Given the description of an element on the screen output the (x, y) to click on. 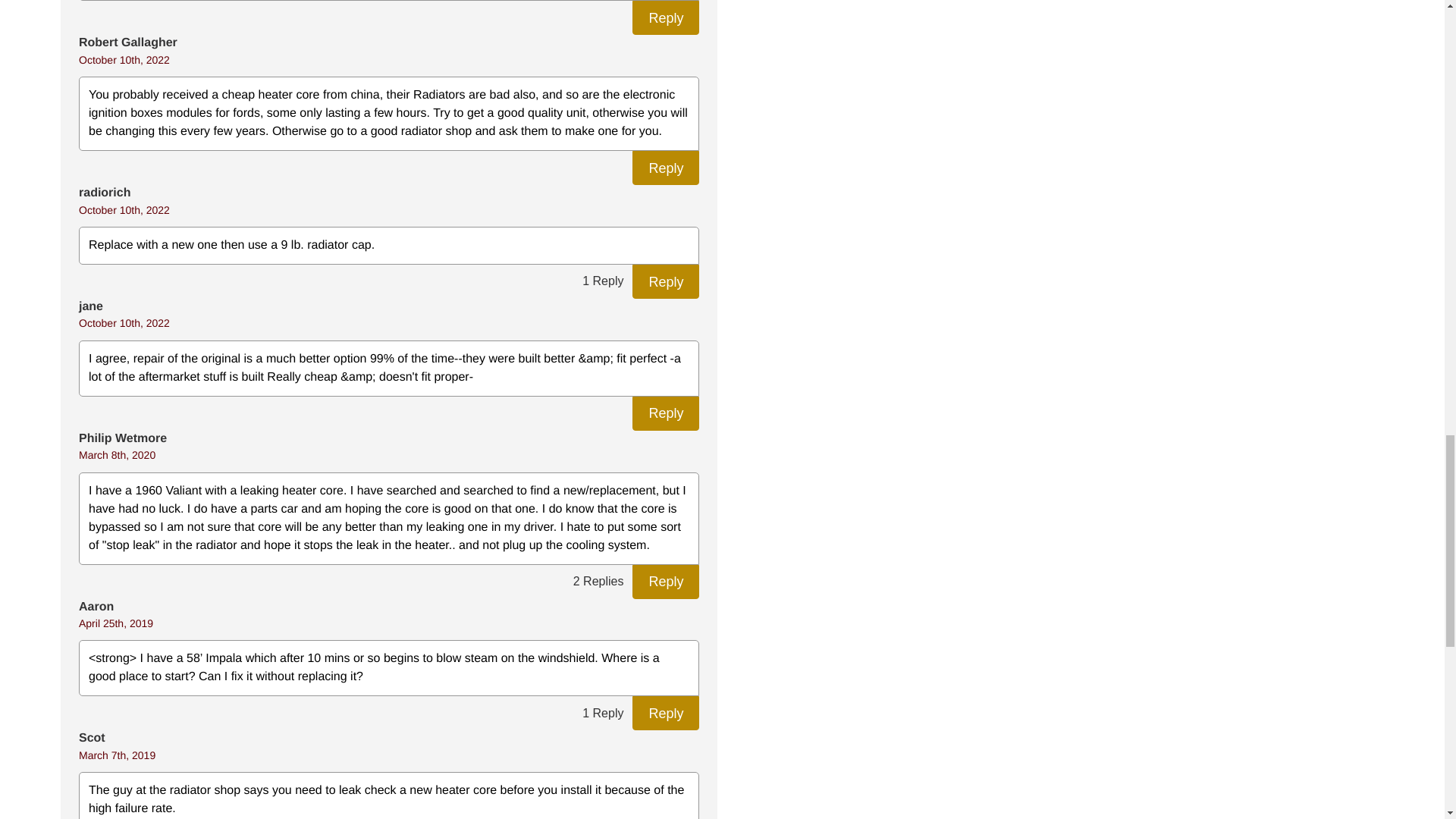
1 Reply (602, 713)
Reply (664, 17)
Reply (664, 413)
2 Replies (598, 581)
Reply (664, 281)
Reply (664, 713)
Reply (664, 581)
1 Reply (602, 281)
Reply (664, 167)
